Given the description of an element on the screen output the (x, y) to click on. 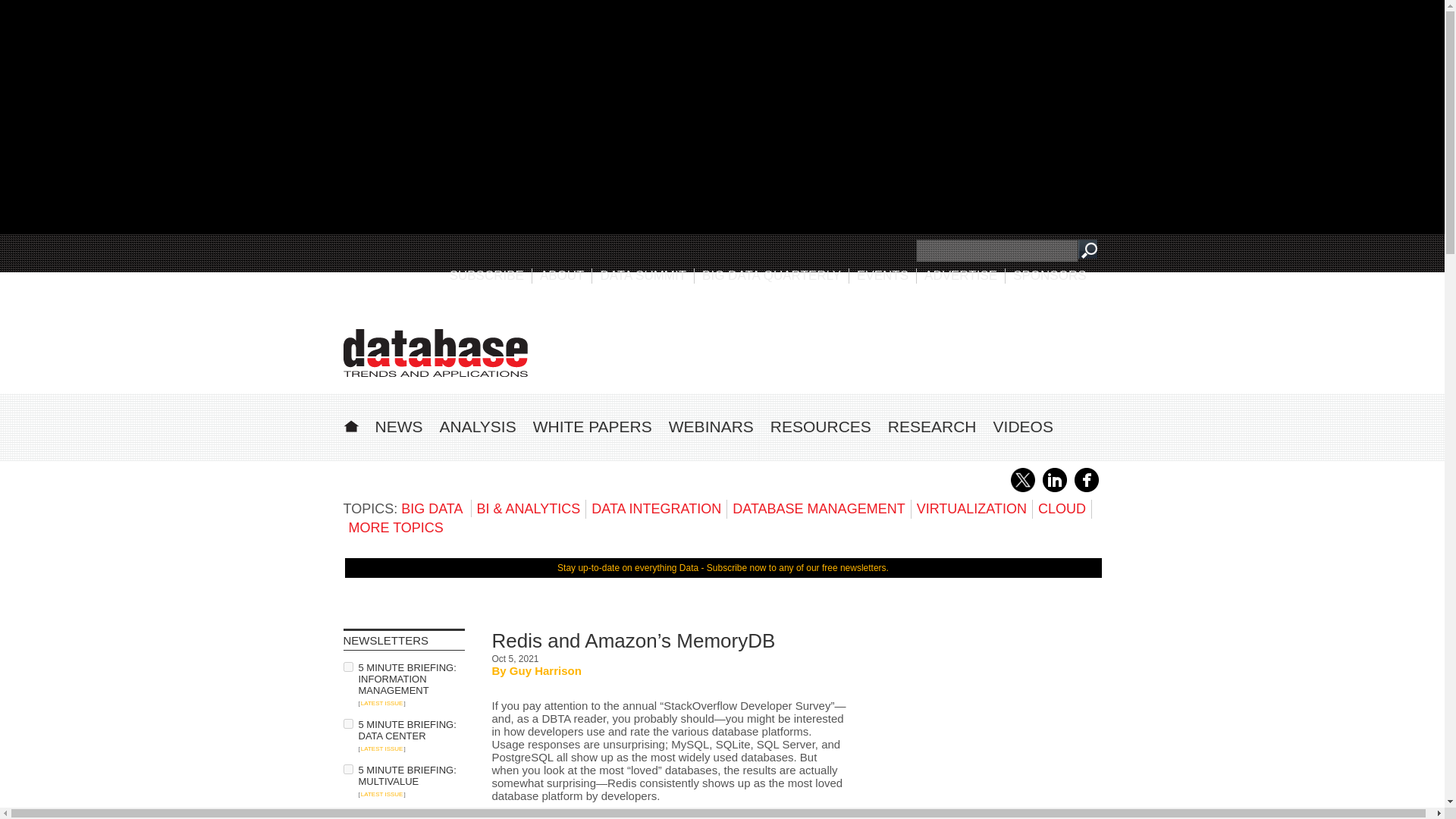
BIG DATA QUARTERLY (771, 275)
ADVERTISE (960, 275)
3rd party ad content (824, 347)
on (347, 814)
RESOURCES (820, 425)
DBTA on Facebook (1085, 489)
DBTA (434, 352)
ANALYSIS (477, 425)
ABOUT (562, 275)
RESEARCH (932, 425)
